Given the description of an element on the screen output the (x, y) to click on. 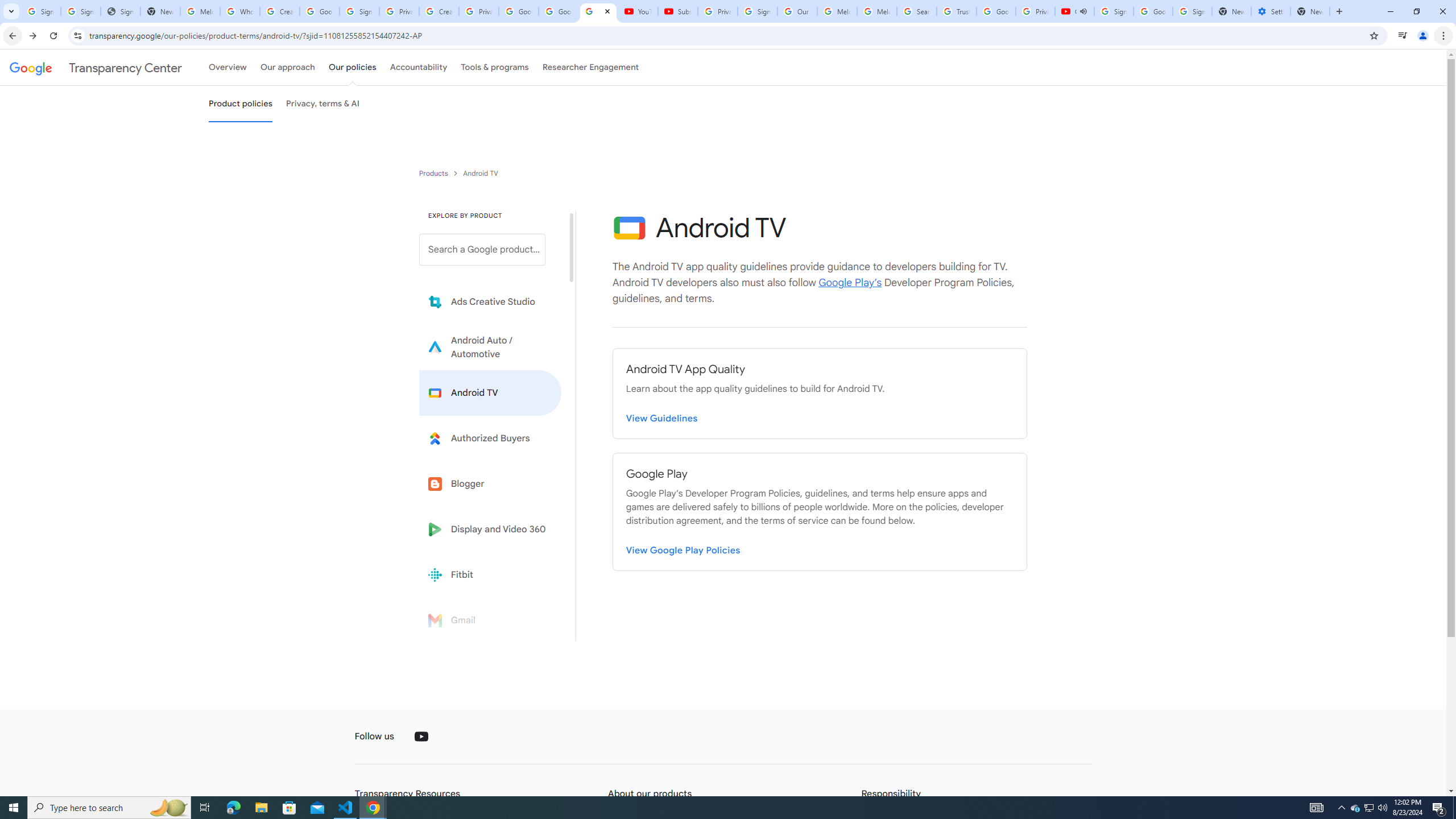
Sign in - Google Accounts (1113, 11)
View Google Play Policies (683, 550)
Our approach (287, 67)
Fitbit (490, 574)
Who is my administrator? - Google Account Help (239, 11)
Transparency Center (95, 67)
Search our Doodle Library Collection - Google Doodles (916, 11)
Create your Google Account (279, 11)
Subscriptions - YouTube (677, 11)
